Given the description of an element on the screen output the (x, y) to click on. 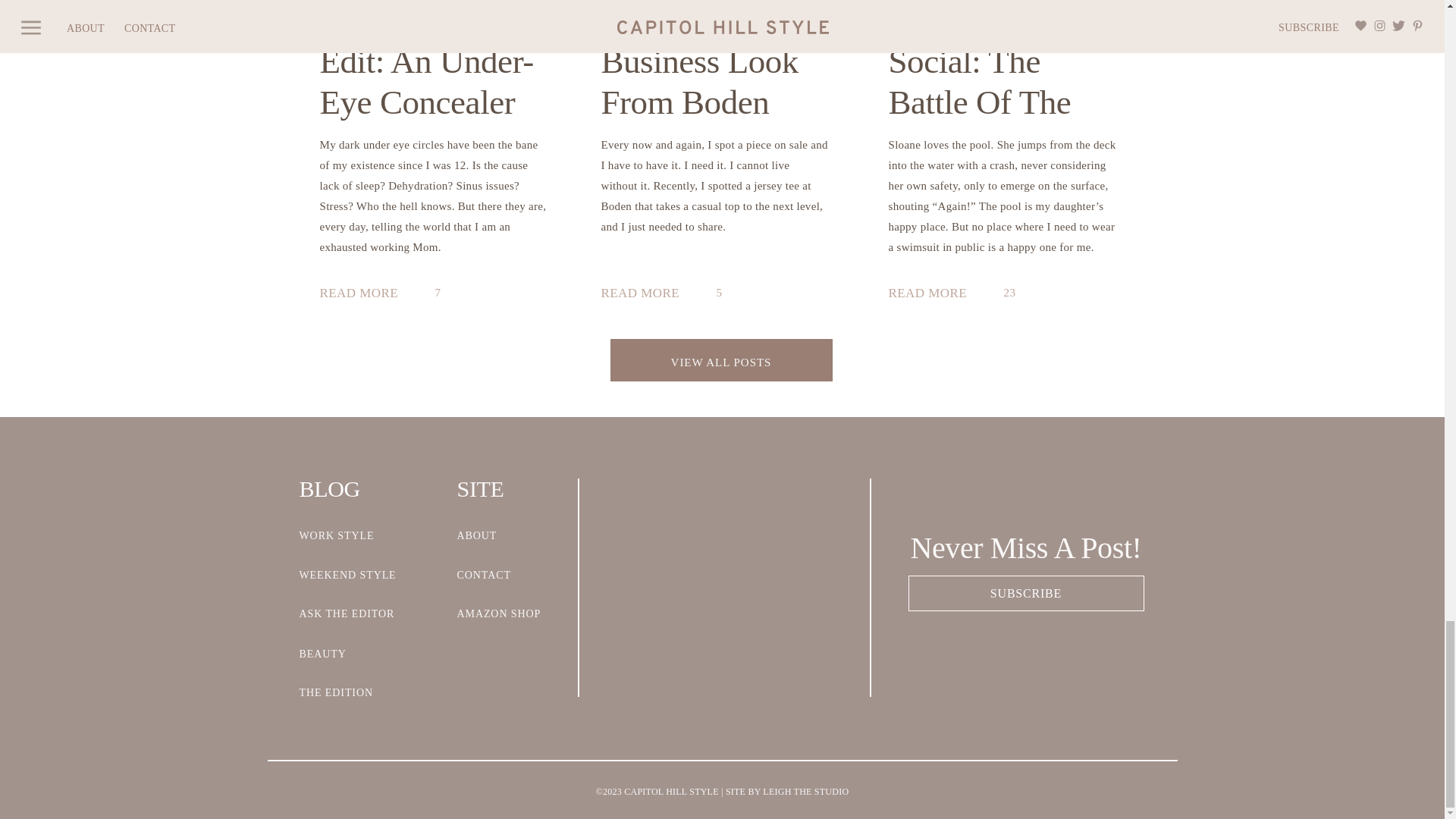
The Beauty Edit: An Under-Eye Concealer That Actually Works (366, 294)
Saw It On Social: The Battle of the Spendy Swimsuits (933, 294)
The Range: A Business Look from Boden (646, 294)
